Given the description of an element on the screen output the (x, y) to click on. 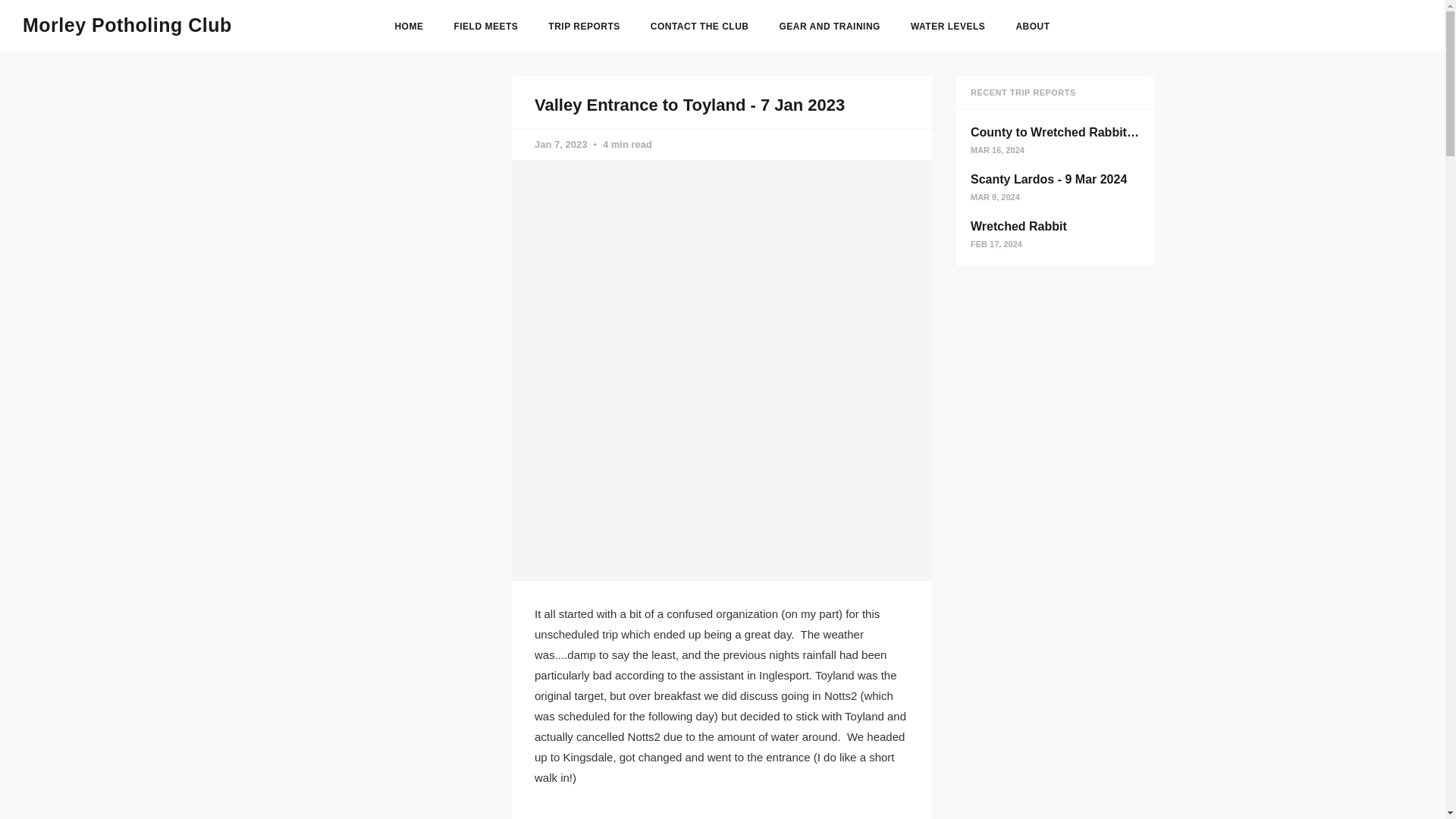
WATER LEVELS (948, 26)
Wretched Rabbit (1019, 226)
HOME (408, 26)
GEAR AND TRAINING (829, 26)
TRIP REPORTS (584, 26)
CONTACT THE CLUB (699, 26)
FIELD MEETS (485, 26)
County to Wretched Rabbit - 16 March 2024 (1096, 132)
Scanty Lardos - 9 Mar 2024 (1048, 178)
Morley Potholing Club (127, 25)
ABOUT (1031, 26)
